Given the description of an element on the screen output the (x, y) to click on. 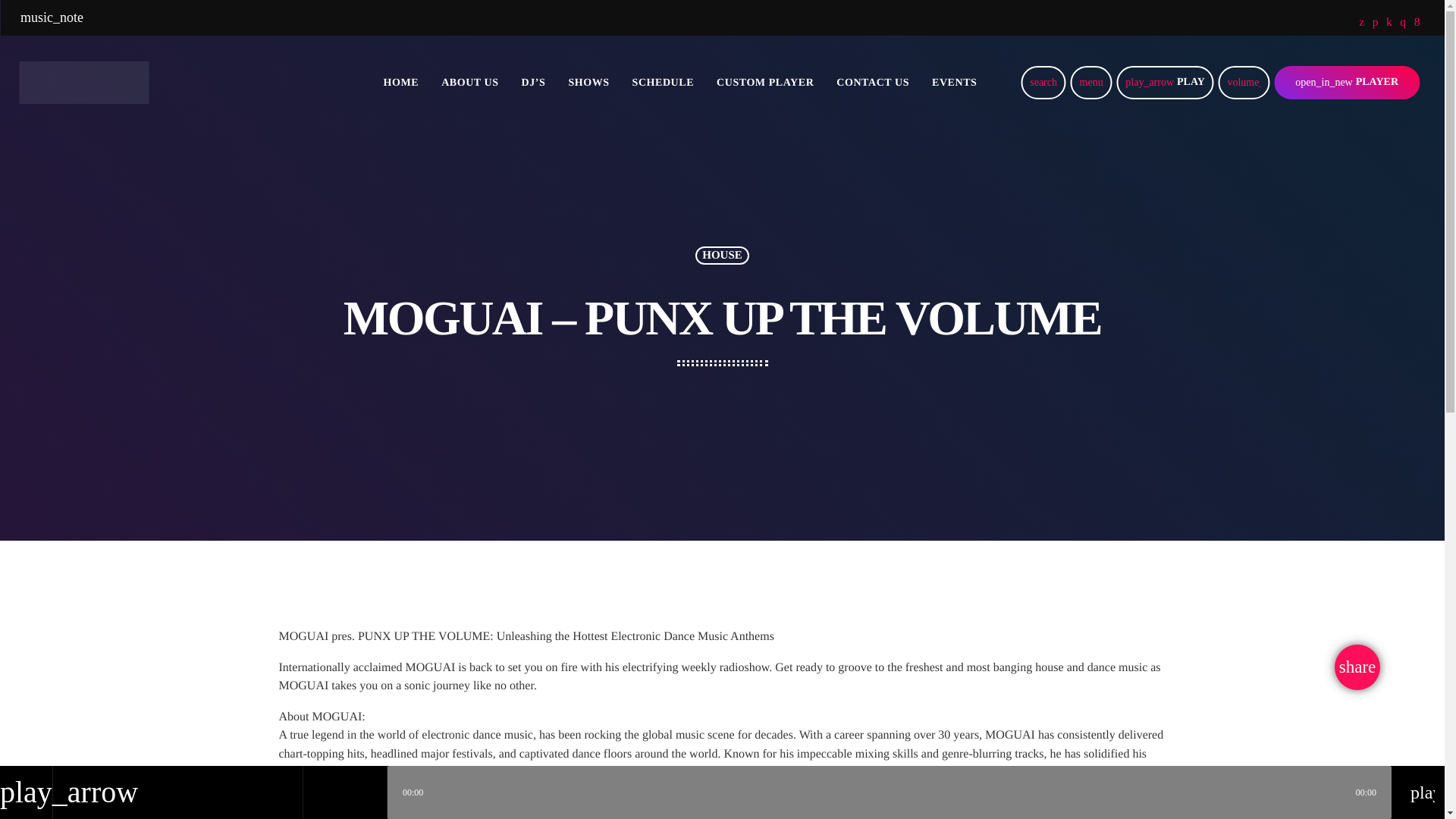
ABOUT US (469, 82)
SHOWS (588, 82)
CONTACT US (872, 82)
HOME (401, 82)
search (1042, 82)
SCHEDULE (663, 82)
menu (1091, 82)
CUSTOM PLAYER (764, 82)
EVENTS (954, 82)
